Given the description of an element on the screen output the (x, y) to click on. 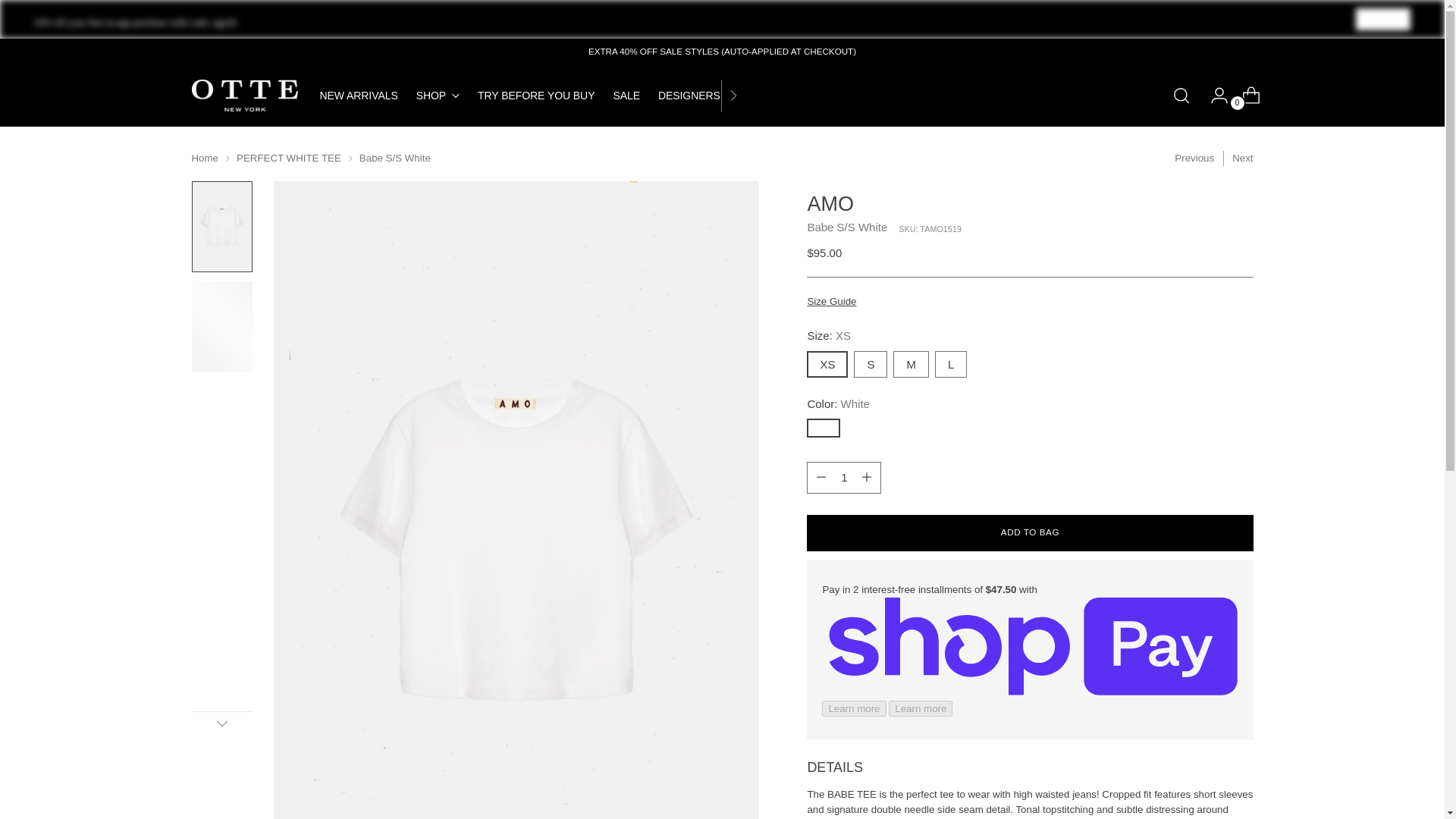
1 (843, 477)
SHOP (438, 95)
NEW ARRIVALS (358, 95)
0 (1245, 95)
DESIGNERS (689, 95)
AMO (829, 203)
TRY BEFORE YOU BUY (535, 95)
Download (531, 95)
Down (1382, 19)
